Given the description of an element on the screen output the (x, y) to click on. 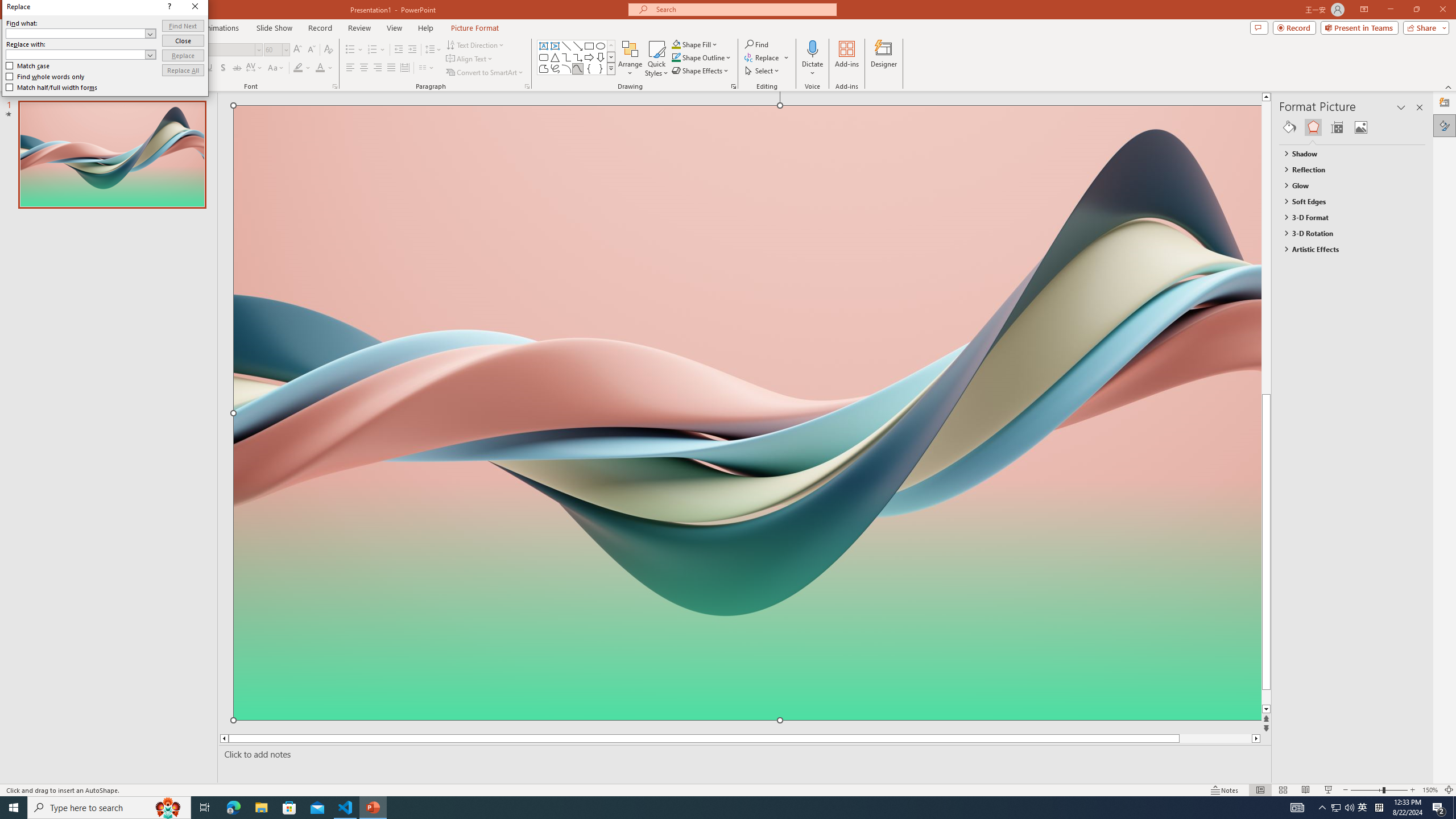
Decorative Locked (747, 579)
Shape Fill Orange, Accent 2 (675, 44)
Glow (1347, 185)
